Given the description of an element on the screen output the (x, y) to click on. 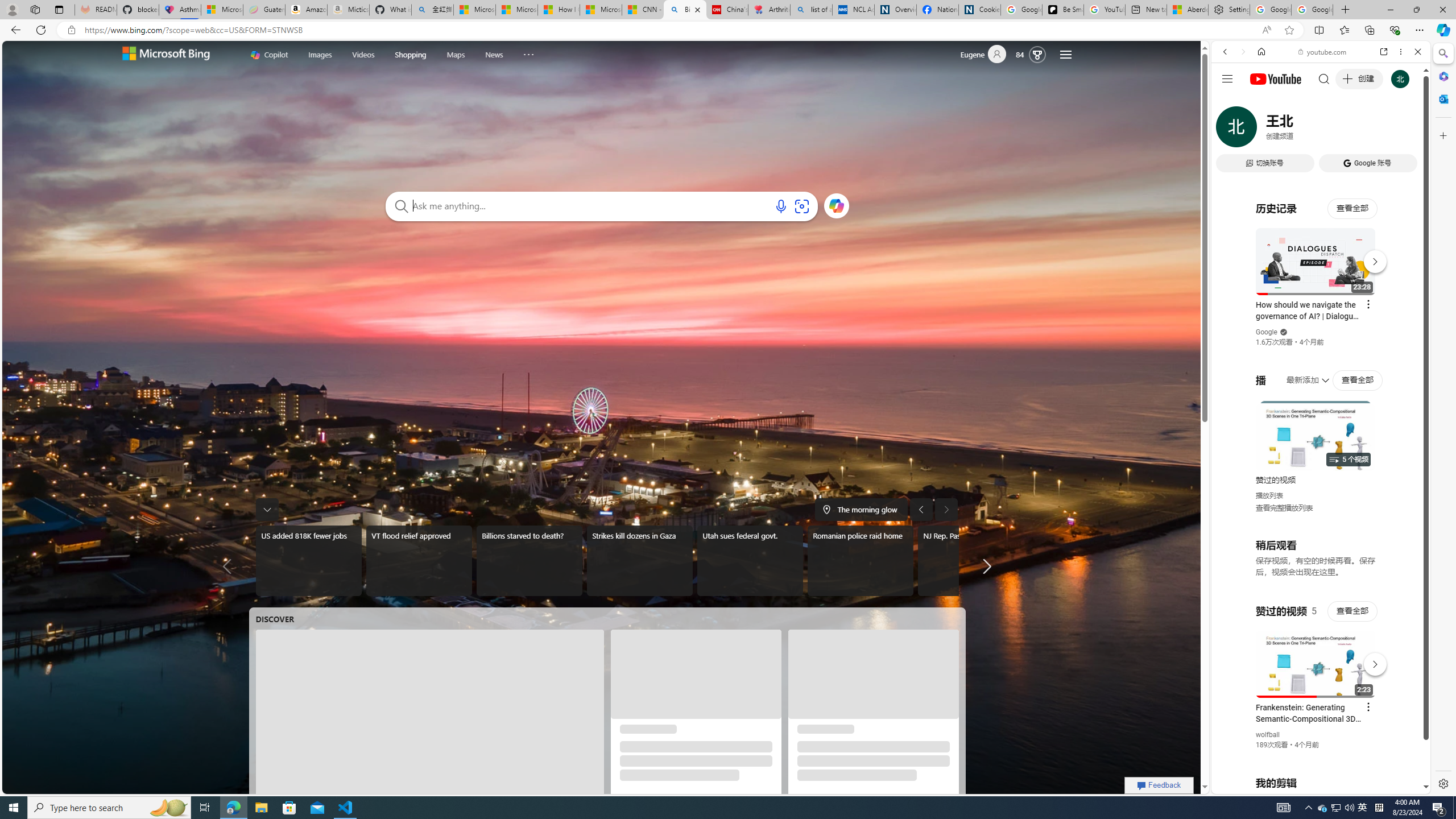
Strikes kill dozens in Gaza (639, 560)
Maps (455, 53)
Animation (1045, 44)
Billions starved to death? (529, 560)
